Given the description of an element on the screen output the (x, y) to click on. 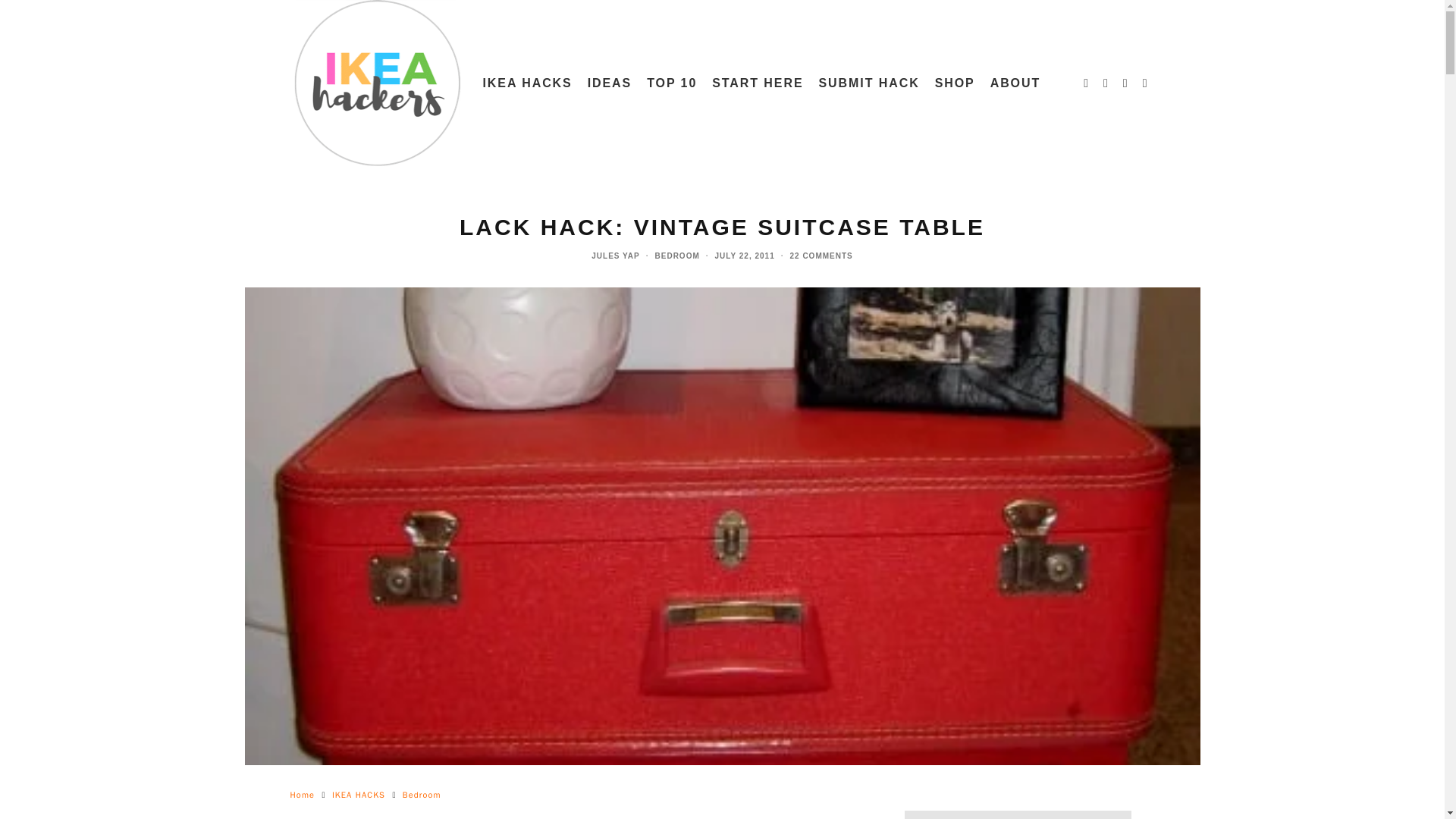
How to send in your hack (868, 83)
Hack of the Year (671, 83)
ABOUT (1015, 83)
BEDROOM (677, 255)
SHOP (954, 83)
Home (301, 794)
TOP 10 (671, 83)
22 COMMENTS (821, 255)
